Given the description of an element on the screen output the (x, y) to click on. 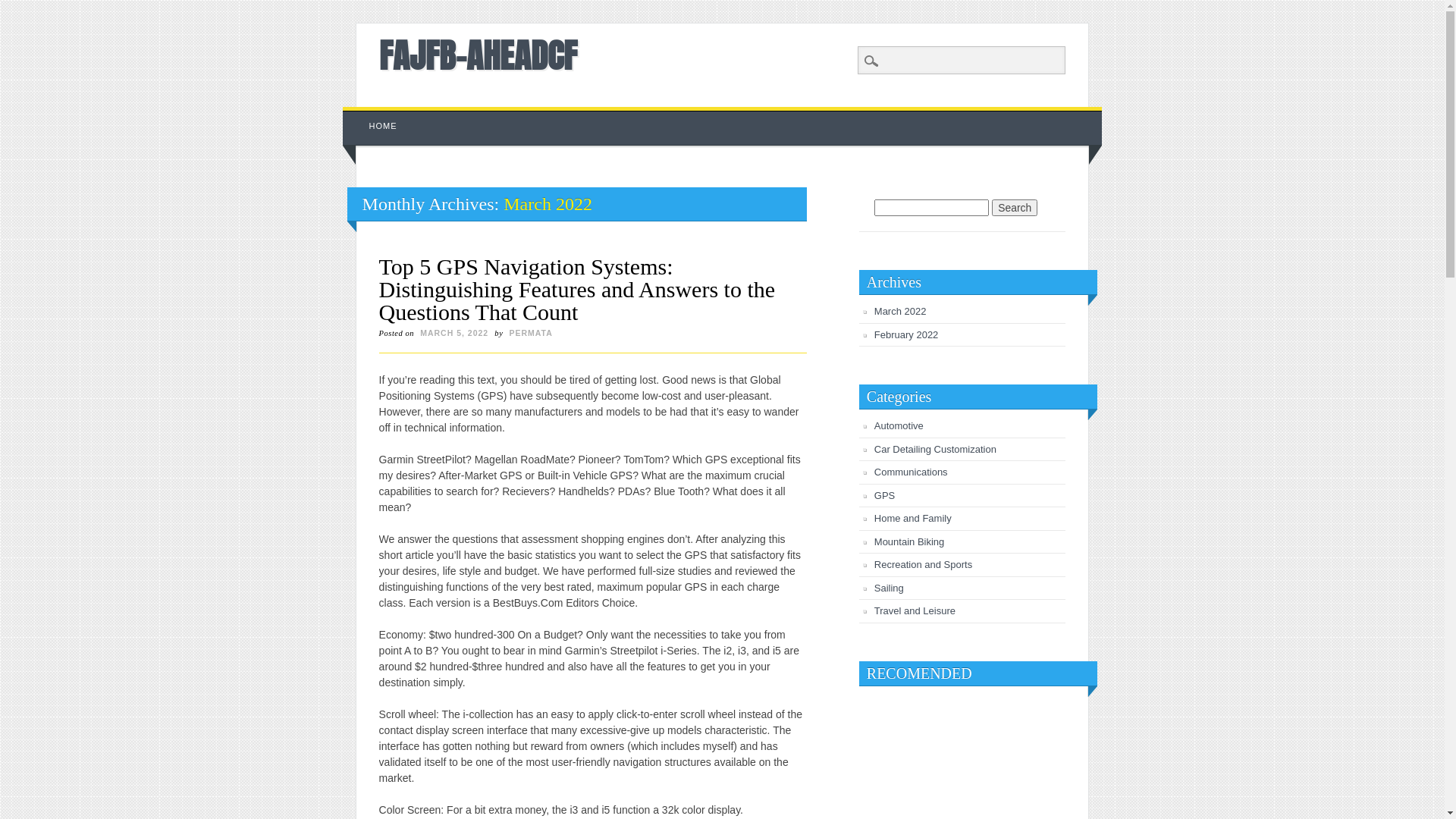
Search Element type: text (1014, 207)
GPS Element type: text (884, 495)
HOME Element type: text (383, 125)
Sailing Element type: text (888, 587)
Communications Element type: text (910, 471)
February 2022 Element type: text (906, 334)
MARCH 5, 2022 Element type: text (454, 332)
Recreation and Sports Element type: text (923, 564)
FAJFB-AHEADCF Element type: text (478, 55)
Automotive Element type: text (898, 425)
Home and Family Element type: text (912, 518)
Mountain Biking Element type: text (909, 541)
Car Detailing Customization Element type: text (935, 449)
PERMATA Element type: text (530, 332)
Skip to content Element type: text (377, 114)
Travel and Leisure Element type: text (914, 610)
March 2022 Element type: text (900, 310)
Search Element type: text (22, 8)
